Given the description of an element on the screen output the (x, y) to click on. 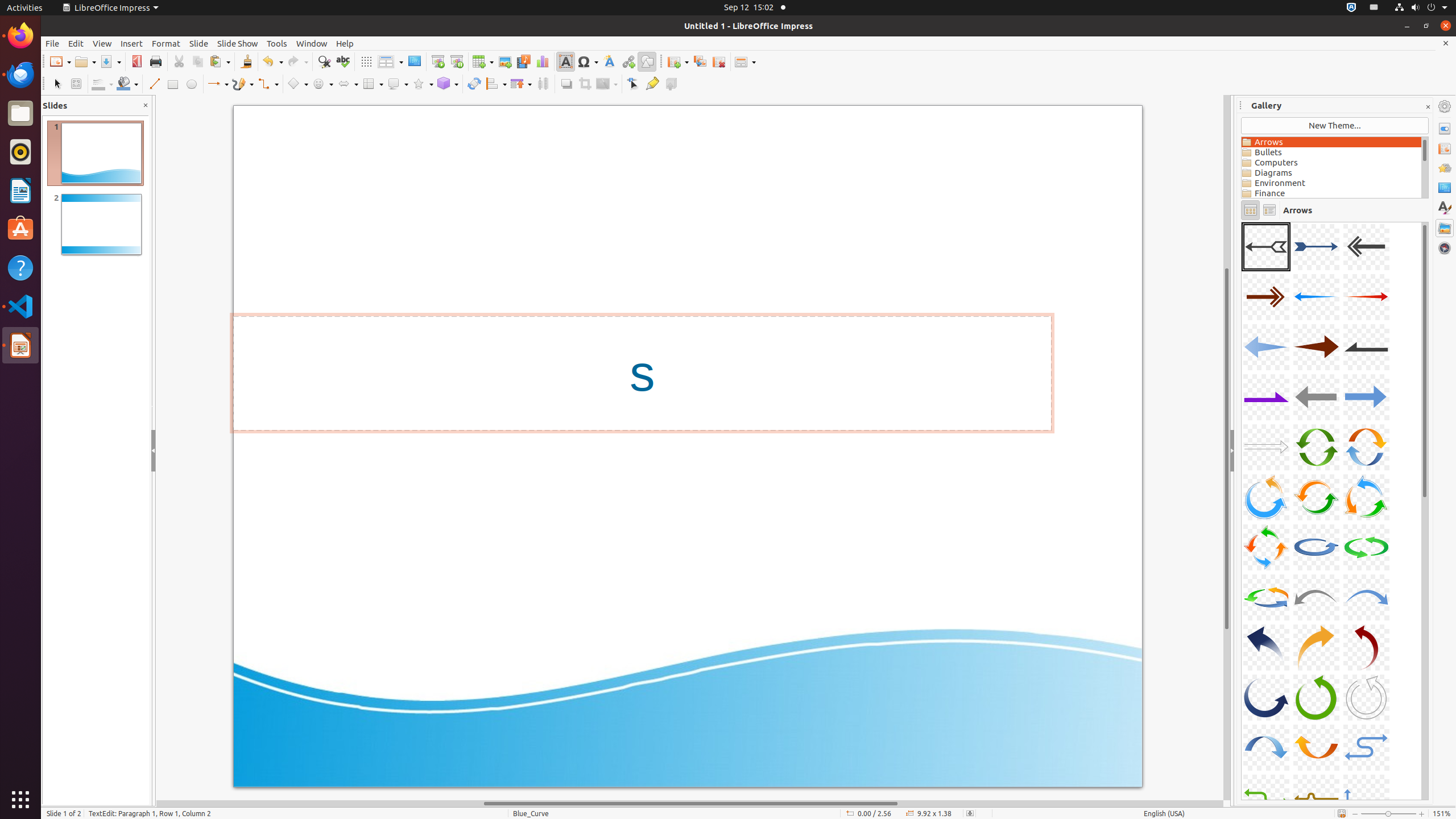
Arrange Element type: push-button (520, 83)
A25-CurvedArrow-DarkBlue Element type: list-item (1265, 646)
A02-Arrow-DarkBlue-Right Element type: list-item (1315, 246)
Insert Element type: menu (131, 43)
Symbol Shapes Element type: push-button (321, 83)
